Given the description of an element on the screen output the (x, y) to click on. 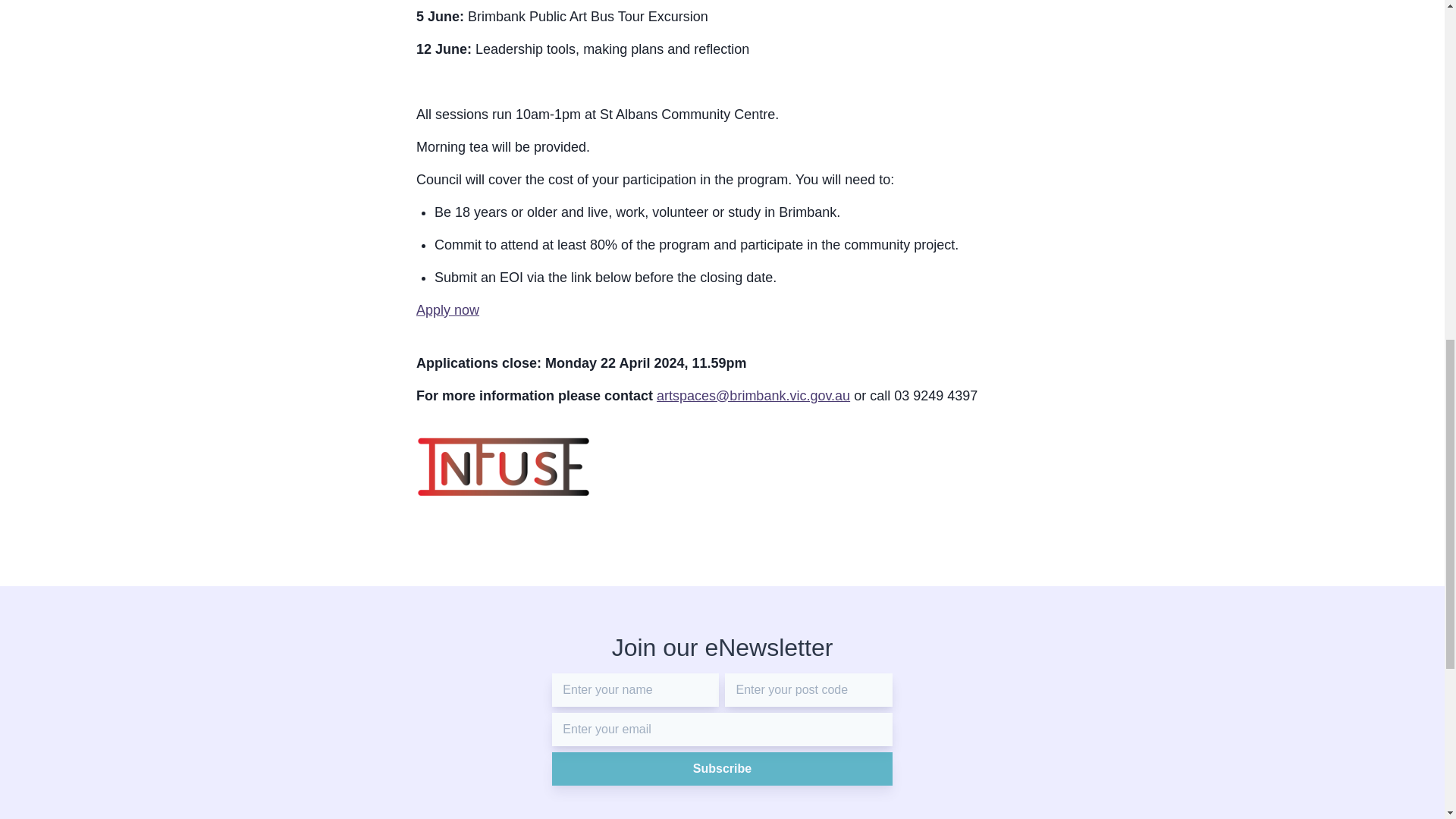
Subscribe (721, 768)
Subscribe (721, 768)
Apply now (447, 309)
